Given the description of an element on the screen output the (x, y) to click on. 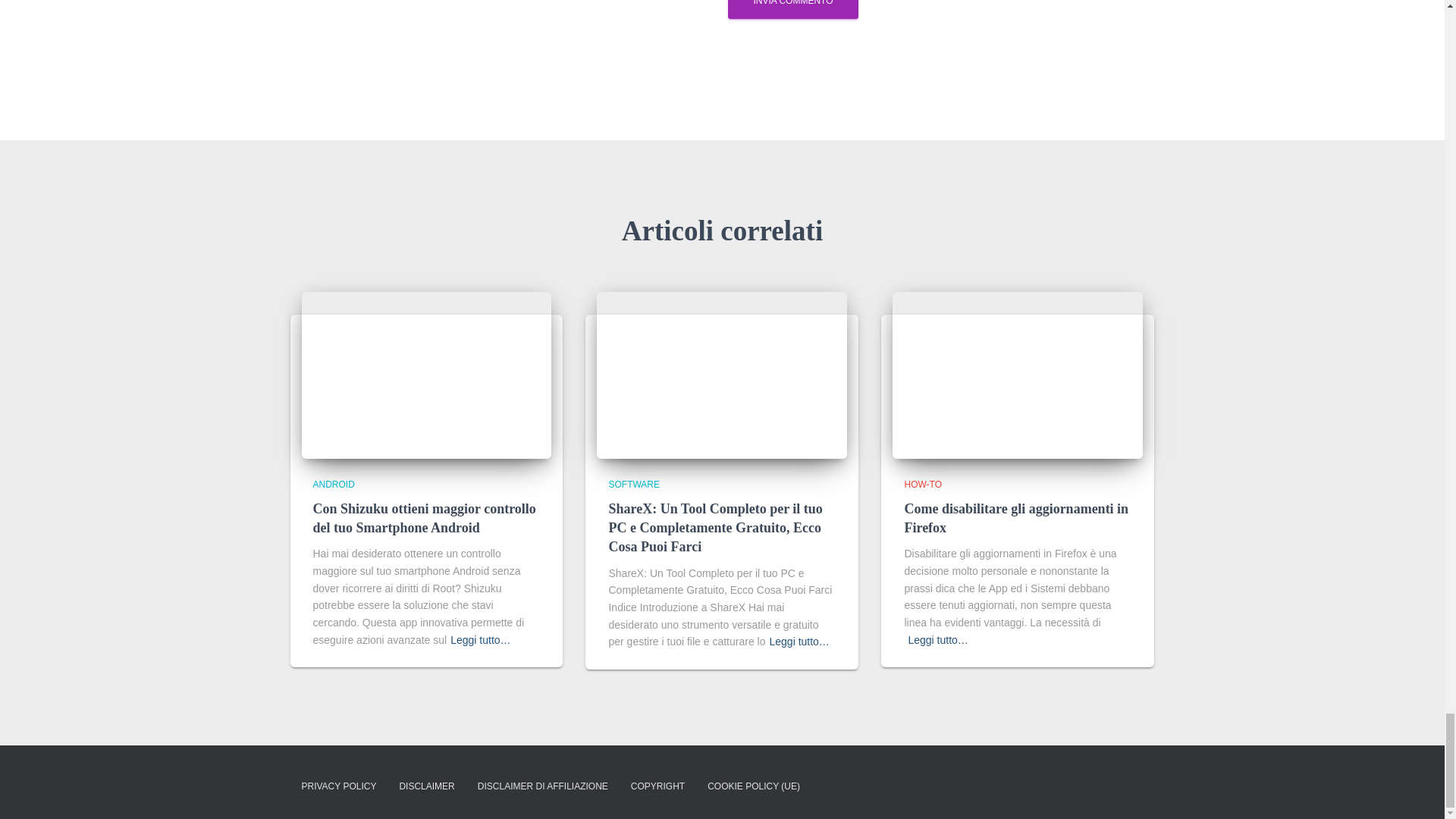
Invia commento (792, 9)
Invia commento (792, 9)
